Given the description of an element on the screen output the (x, y) to click on. 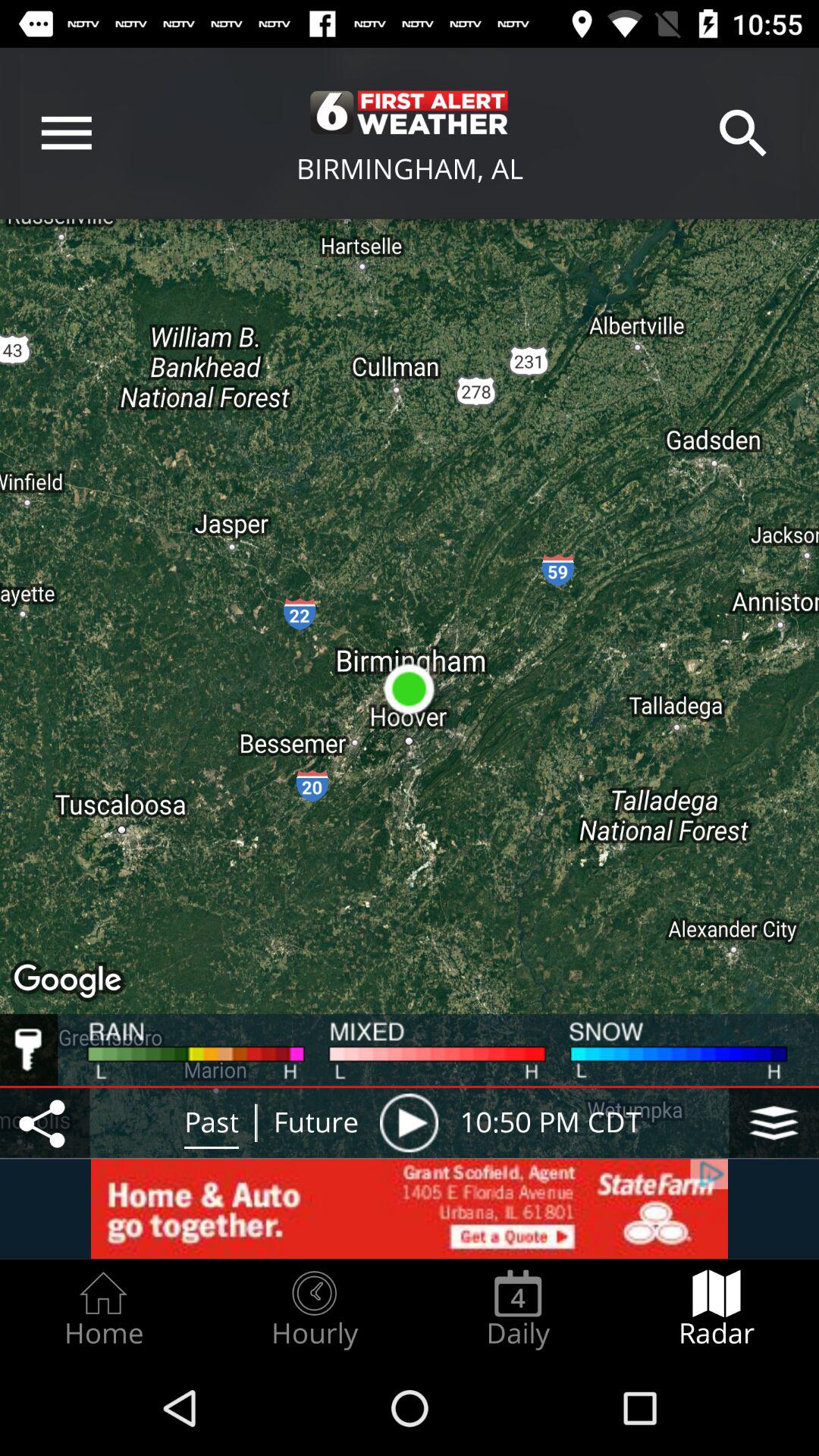
press item to the right of the 10 50 pm (774, 1122)
